Given the description of an element on the screen output the (x, y) to click on. 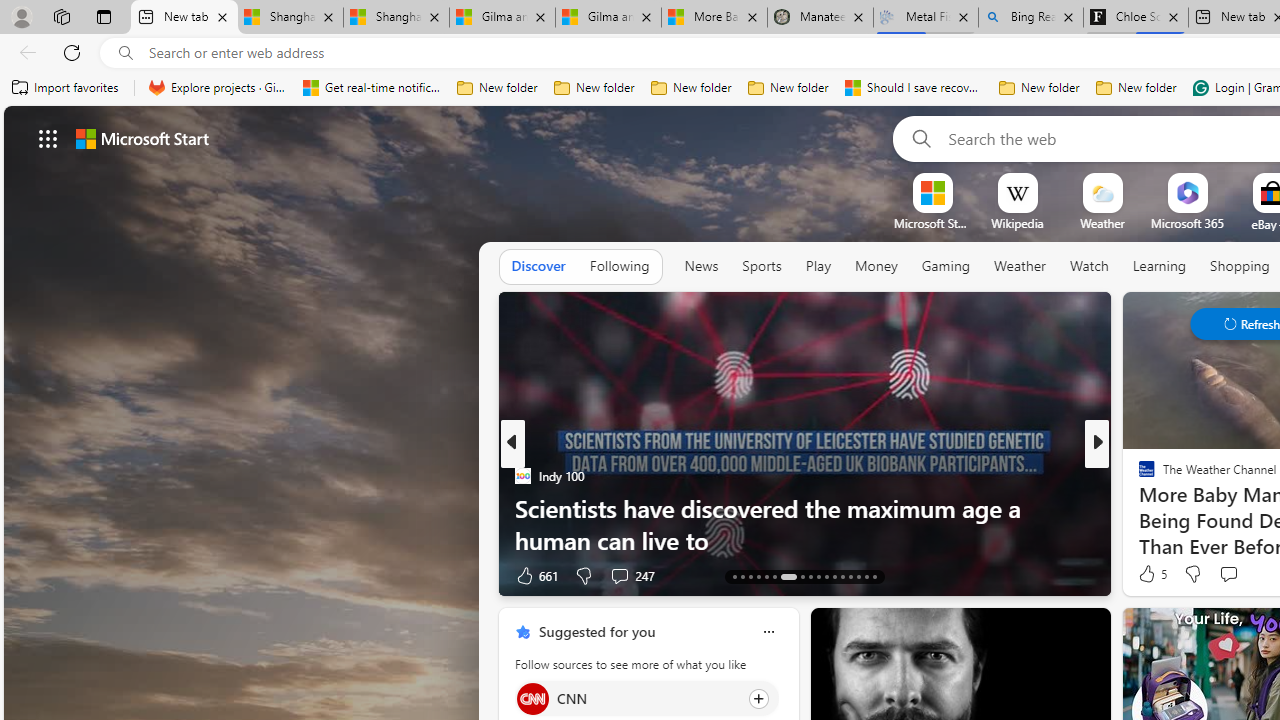
View comments 19 Comment (1244, 574)
Gaming (945, 265)
View comments 7 Comment (1229, 575)
View comments 58 Comment (11, 575)
View comments 19 Comment (1234, 575)
AutomationID: tab-40 (857, 576)
View comments 6 Comment (1241, 574)
ETNT Mind+Body (1138, 475)
View comments 1 Comment (1234, 574)
AutomationID: tab-18 (774, 576)
17 Like (1149, 574)
